Given the description of an element on the screen output the (x, y) to click on. 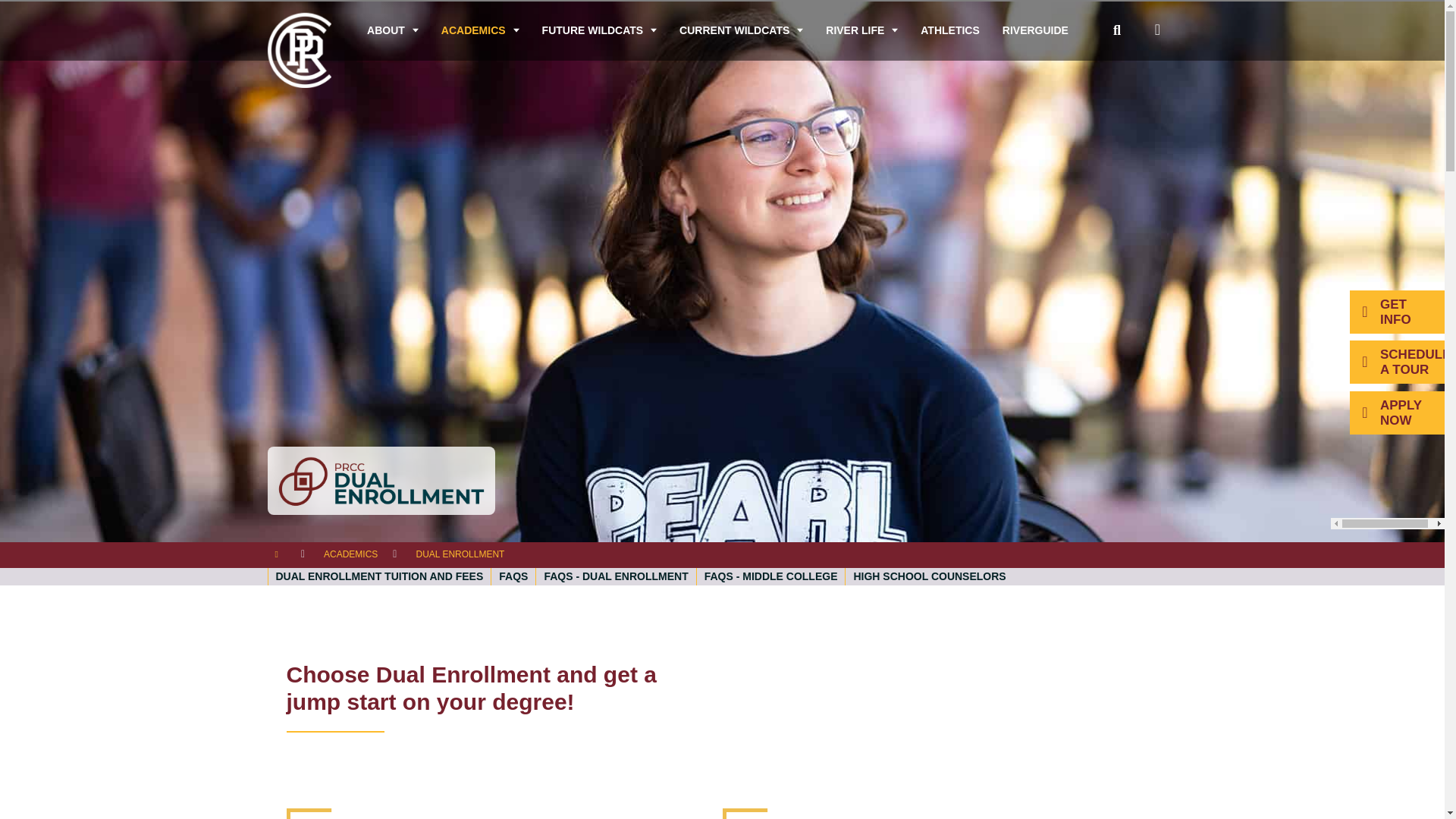
ACADEMICS (480, 30)
ABOUT (392, 30)
FUTURE WILDCATS (599, 30)
